Given the description of an element on the screen output the (x, y) to click on. 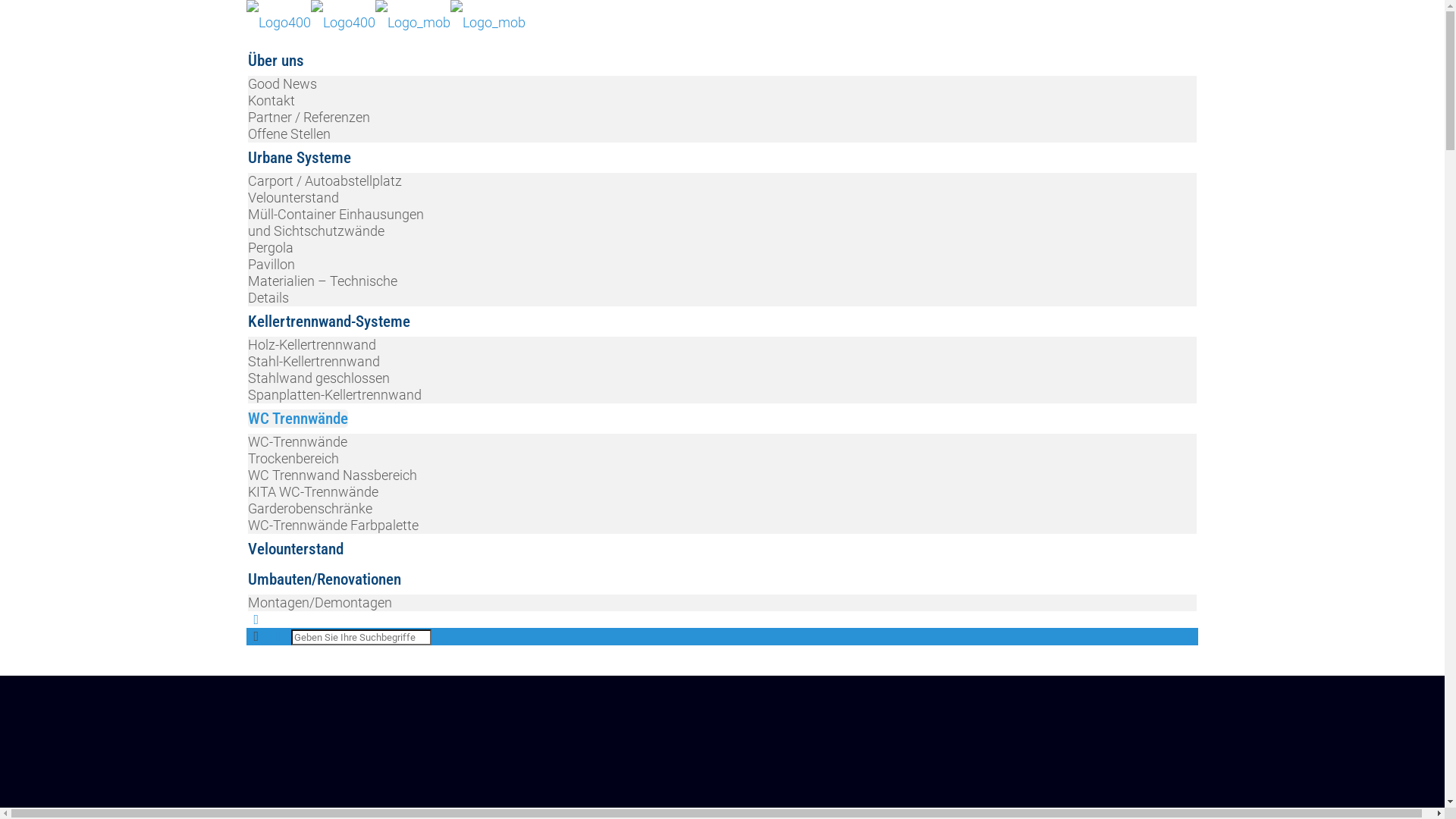
Stahlwand geschlossen Element type: text (318, 377)
Stahl-Kellertrennwand Element type: text (313, 361)
Kontakt Element type: text (270, 100)
Carport / Autoabstellplatz Element type: text (324, 180)
Velounterstand Element type: text (295, 548)
Spanplatten-Kellertrennwand Element type: text (334, 394)
Holz-Kellertrennwand Element type: text (311, 344)
Pavillon Element type: text (270, 264)
Urbane Systeme Element type: text (299, 157)
Umbauten/Renovationen Element type: text (324, 579)
Pergola Element type: text (270, 247)
Offene Stellen Element type: text (288, 133)
Partner / Referenzen Element type: text (308, 117)
WC Trennwand Nassbereich Element type: text (332, 475)
Good News Element type: text (281, 83)
Kellertrennwand-Systeme Element type: text (328, 321)
Velounterstand Element type: text (292, 197)
Montagen/Demontagen Element type: text (319, 602)
